Given the description of an element on the screen output the (x, y) to click on. 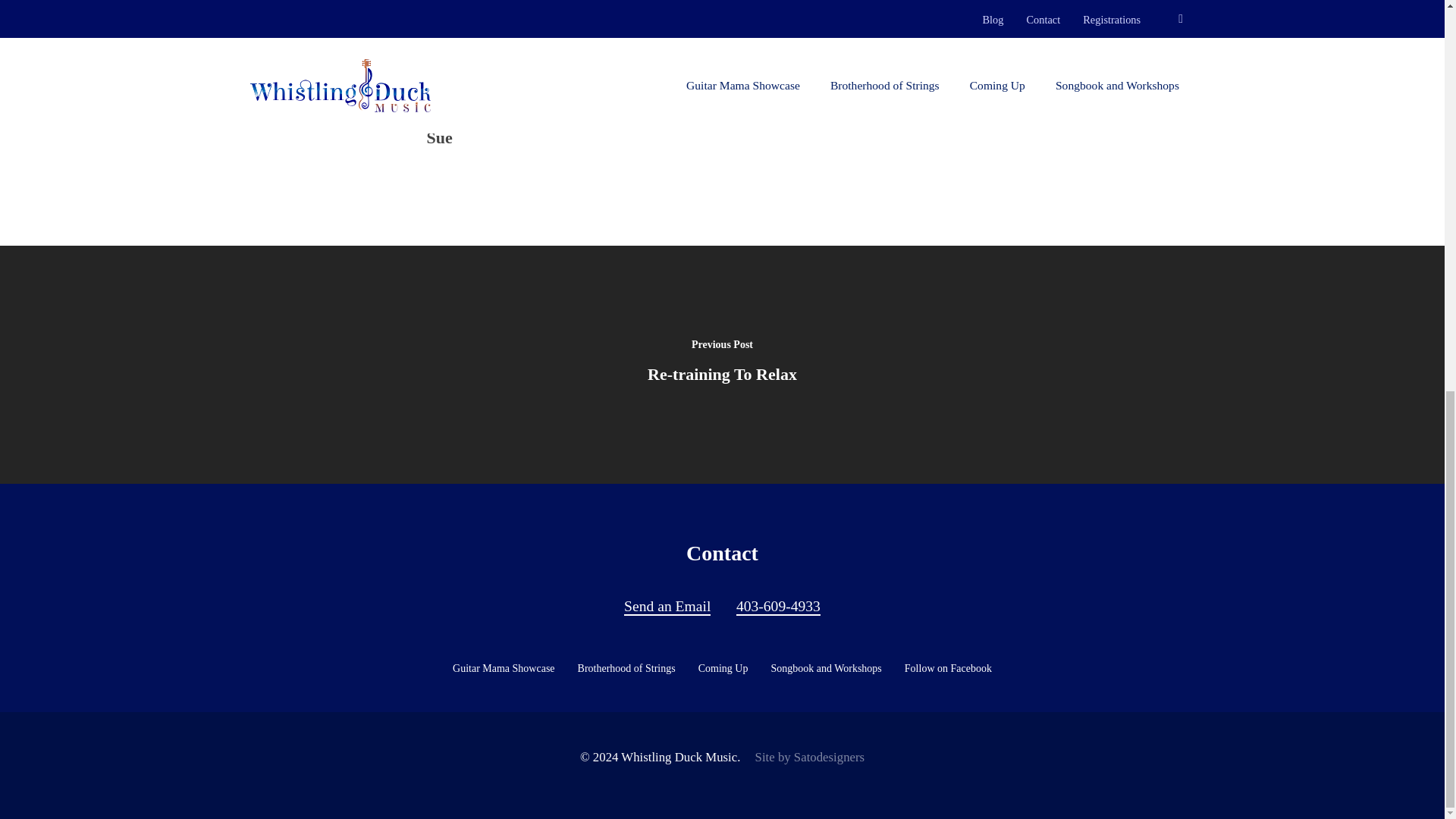
403-609-4933 (778, 606)
Sue (438, 137)
Follow on Facebook (947, 668)
Brotherhood of Strings (626, 668)
Coming Up (723, 668)
Songbook and Workshops (825, 668)
Guitar Mama Showcase (503, 668)
Send an Email (667, 606)
Site by Satodesigners (809, 757)
